Given the description of an element on the screen output the (x, y) to click on. 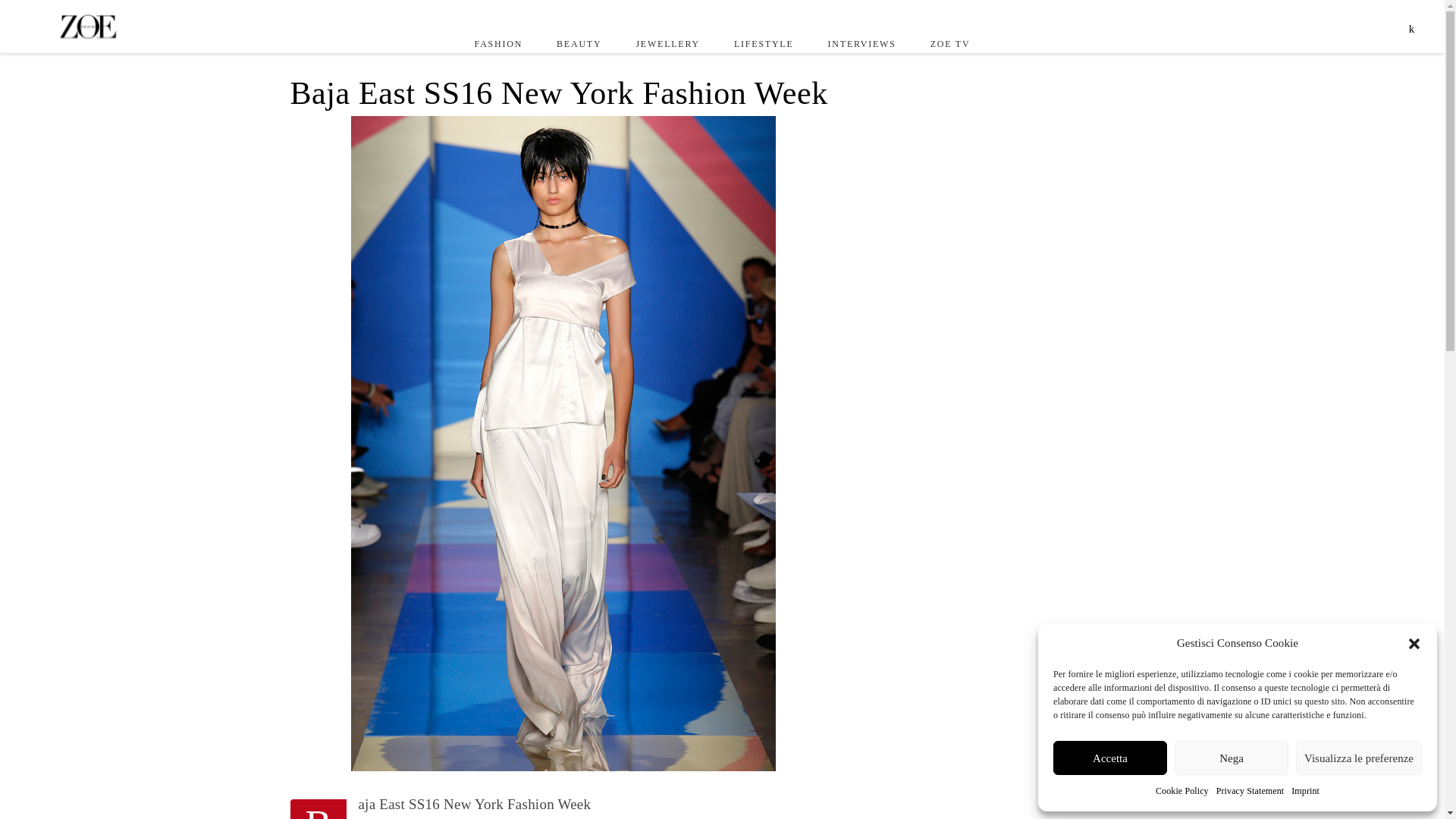
Privacy Statement (1249, 791)
Accetta (1109, 757)
JEWELLERY (667, 43)
Visualizza le preferenze (1358, 757)
BEAUTY (578, 43)
Imprint (1305, 791)
INTERVIEWS (861, 43)
Cookie Policy (1182, 791)
FASHION (498, 43)
ZOE TV (949, 43)
